Given the description of an element on the screen output the (x, y) to click on. 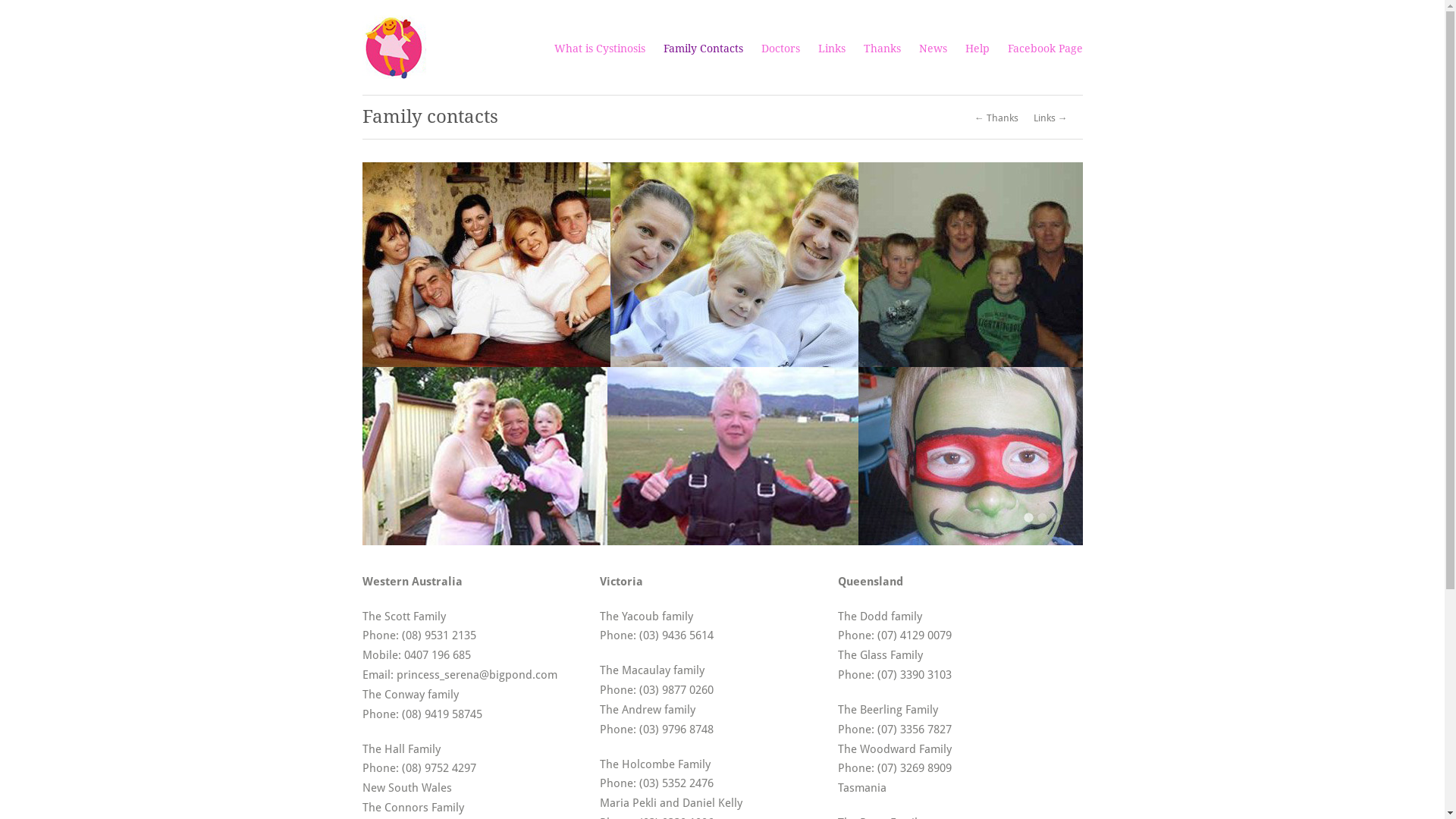
Thanks Element type: text (881, 48)
3 Element type: text (1055, 517)
2 Element type: text (1042, 517)
Australian Families Element type: hover (722, 353)
Family Contacts Element type: text (702, 48)
Facebook Page Element type: text (1044, 48)
1 Element type: text (1028, 517)
News Element type: text (933, 48)
What is Cystinosis Element type: text (598, 48)
Links Element type: text (830, 48)
Doctors Element type: text (780, 48)
Help Element type: text (976, 48)
